Given the description of an element on the screen output the (x, y) to click on. 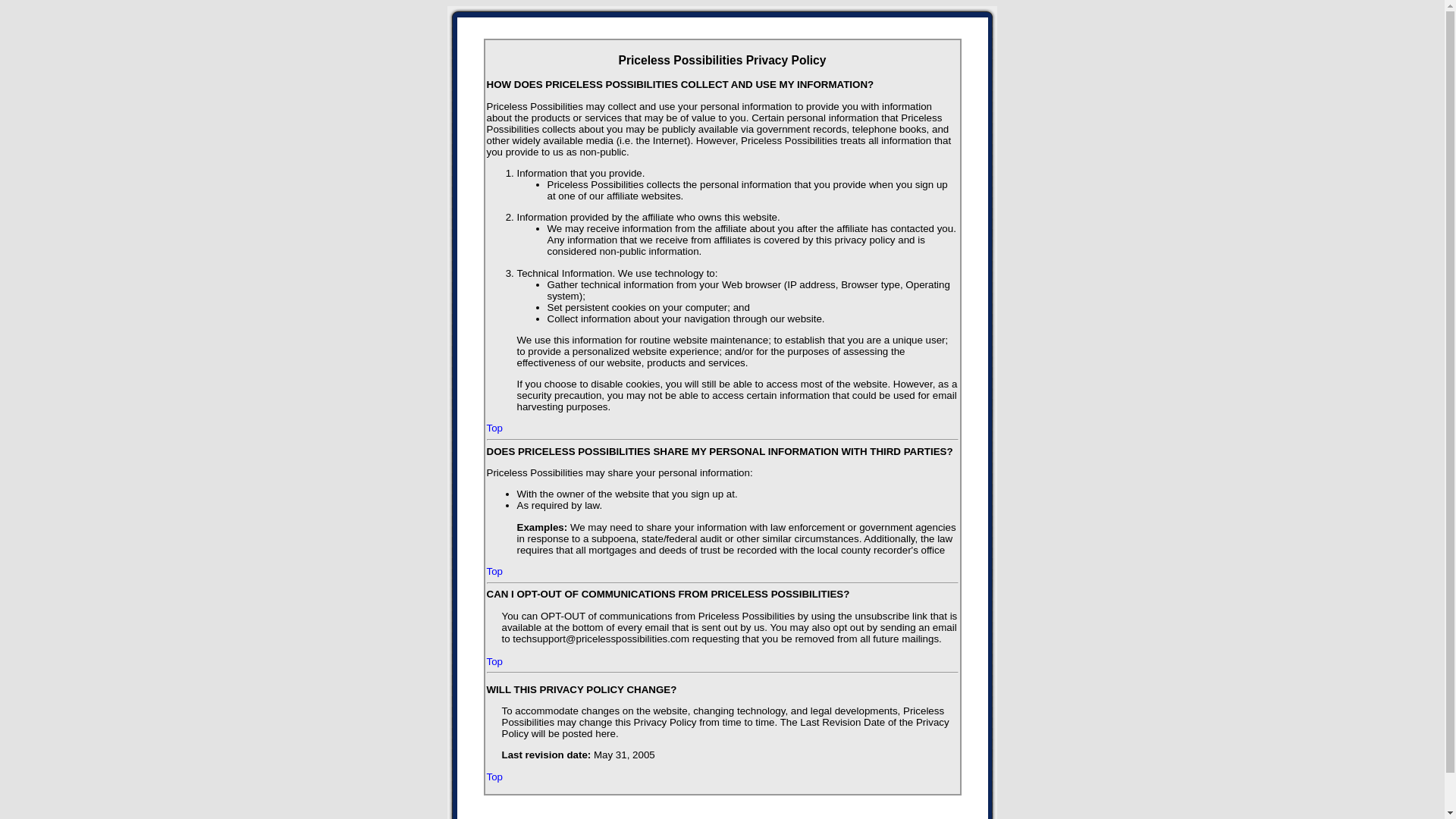
Top (494, 776)
Top (494, 661)
Priceless Possibilities Privacy Policy (722, 60)
Top (494, 571)
Top (494, 428)
